Given the description of an element on the screen output the (x, y) to click on. 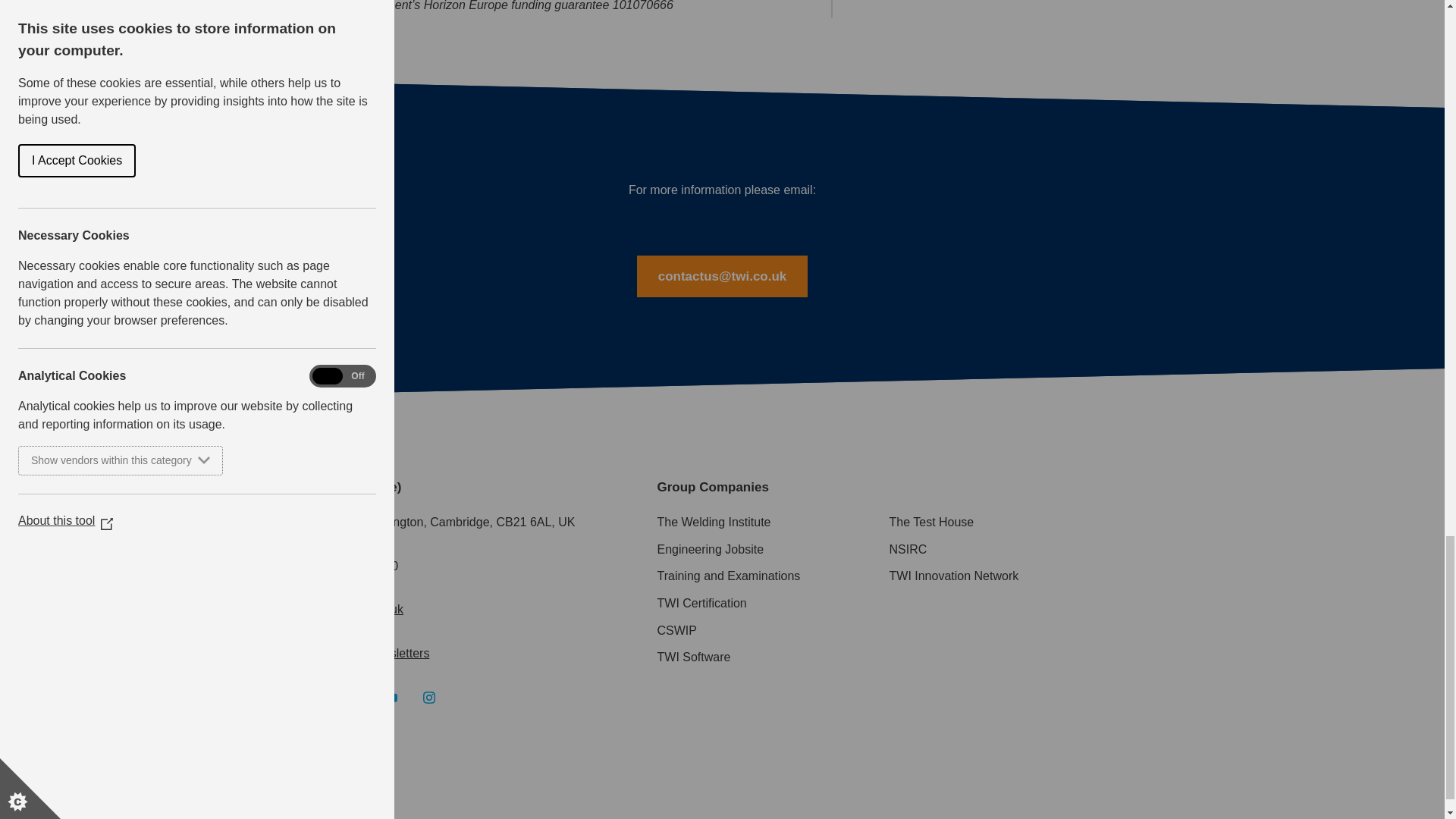
Subscribe to our newsletters (352, 653)
